Given the description of an element on the screen output the (x, y) to click on. 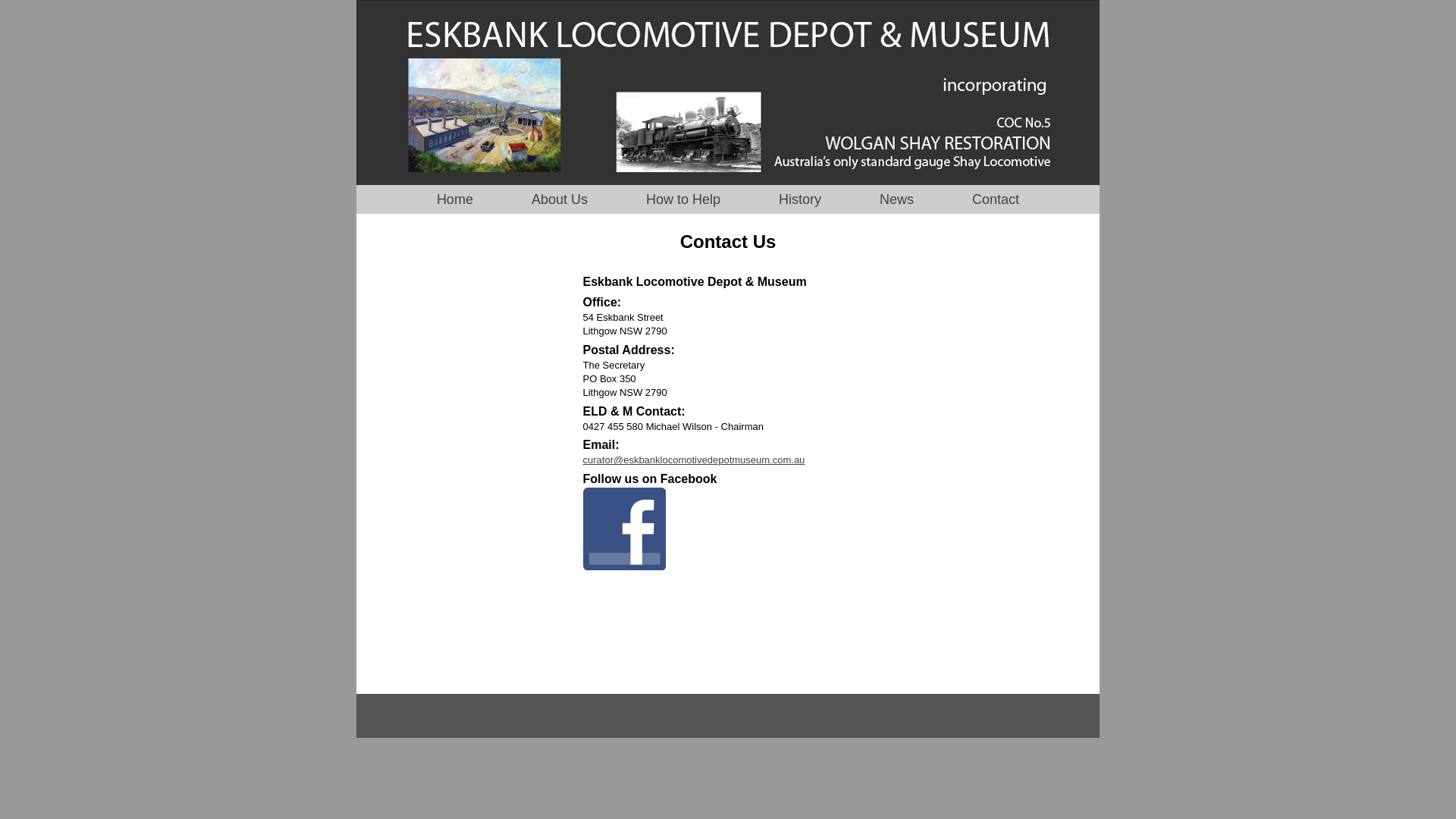
How to Help Element type: text (684, 198)
History Element type: text (799, 198)
News Element type: text (896, 198)
curator@eskbanklocomotivedepotmuseum.com.au Element type: text (693, 459)
Contact Element type: text (995, 198)
About Us Element type: text (561, 198)
Home Element type: text (454, 198)
